Given the description of an element on the screen output the (x, y) to click on. 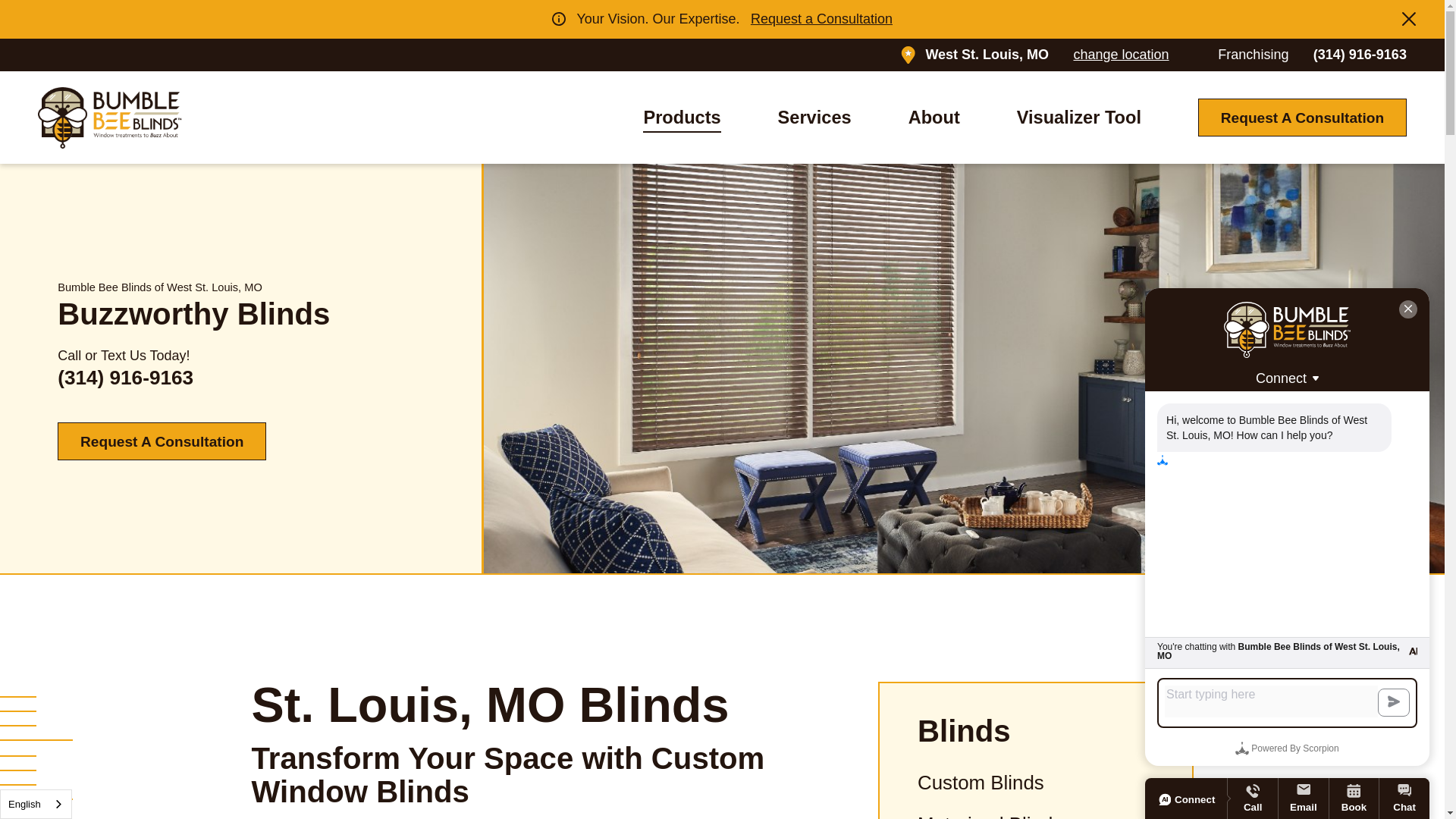
Franchising (1252, 54)
change location (1121, 55)
West St. Louis, MO (986, 55)
Products (681, 117)
About (933, 117)
Close the notification (1408, 18)
Bumble Bee Blinds of West St. Louis, MO (109, 117)
Request a Consultation (821, 19)
Services (814, 117)
